Given the description of an element on the screen output the (x, y) to click on. 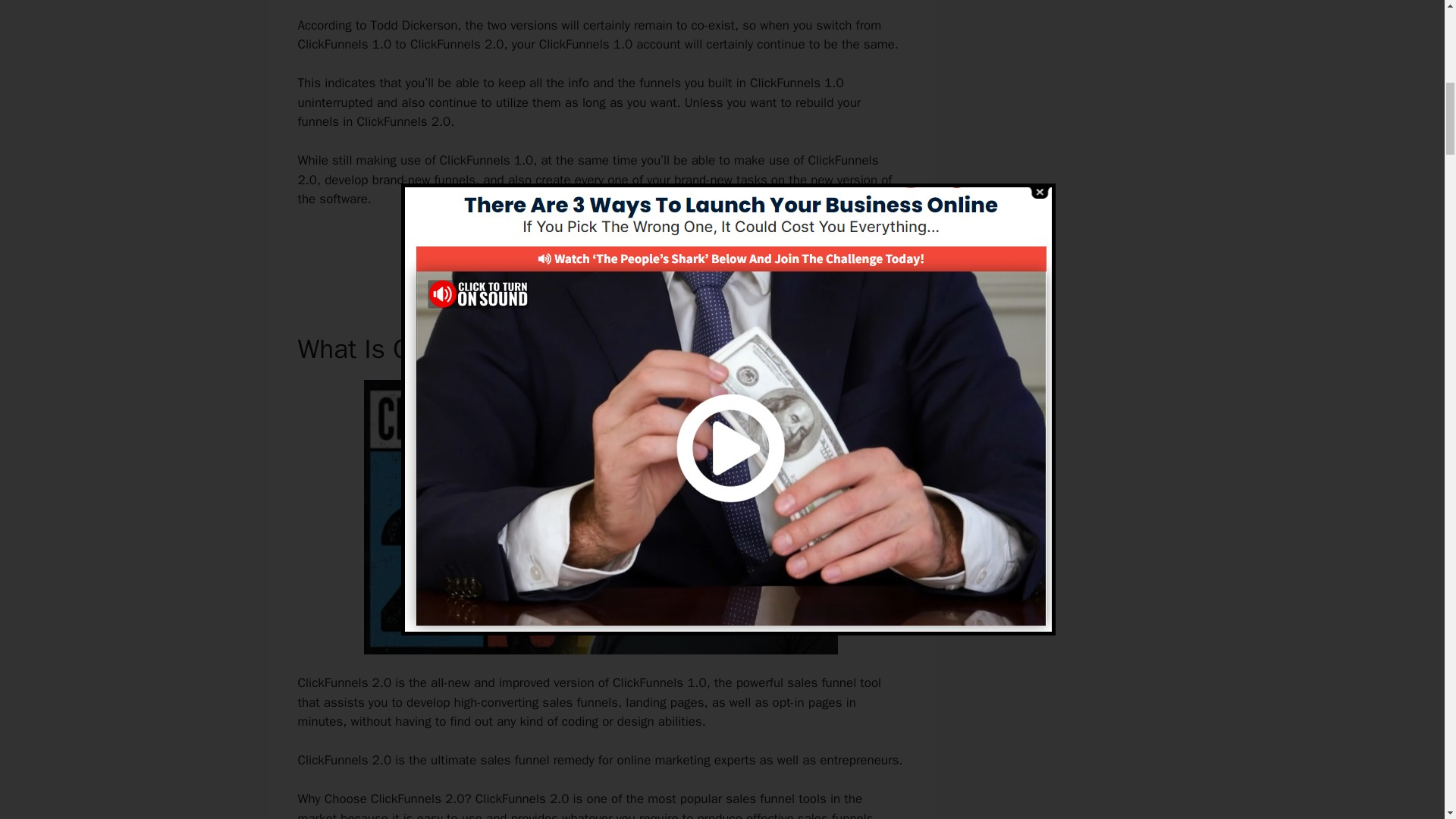
Go Here To Learn More On CF.2.0 (600, 250)
